Given the description of an element on the screen output the (x, y) to click on. 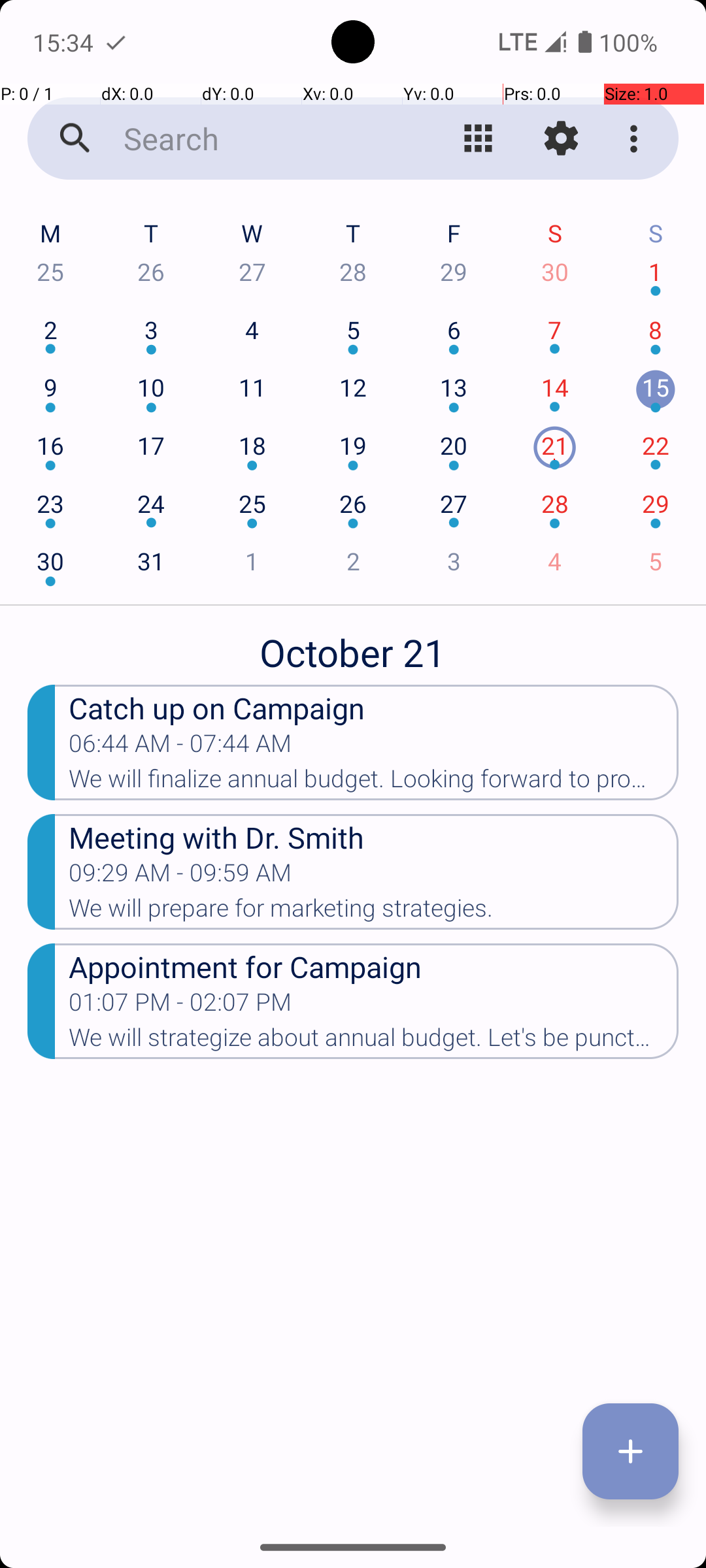
October 21 Element type: android.widget.TextView (352, 644)
Catch up on Campaign Element type: android.widget.TextView (373, 706)
06:44 AM - 07:44 AM Element type: android.widget.TextView (179, 747)
We will finalize annual budget. Looking forward to productive discussions. Element type: android.widget.TextView (373, 782)
Meeting with Dr. Smith Element type: android.widget.TextView (373, 836)
09:29 AM - 09:59 AM Element type: android.widget.TextView (179, 876)
We will prepare for marketing strategies. Element type: android.widget.TextView (373, 911)
01:07 PM - 02:07 PM Element type: android.widget.TextView (179, 1005)
We will strategize about annual budget. Let's be punctual. Element type: android.widget.TextView (373, 1041)
